Given the description of an element on the screen output the (x, y) to click on. 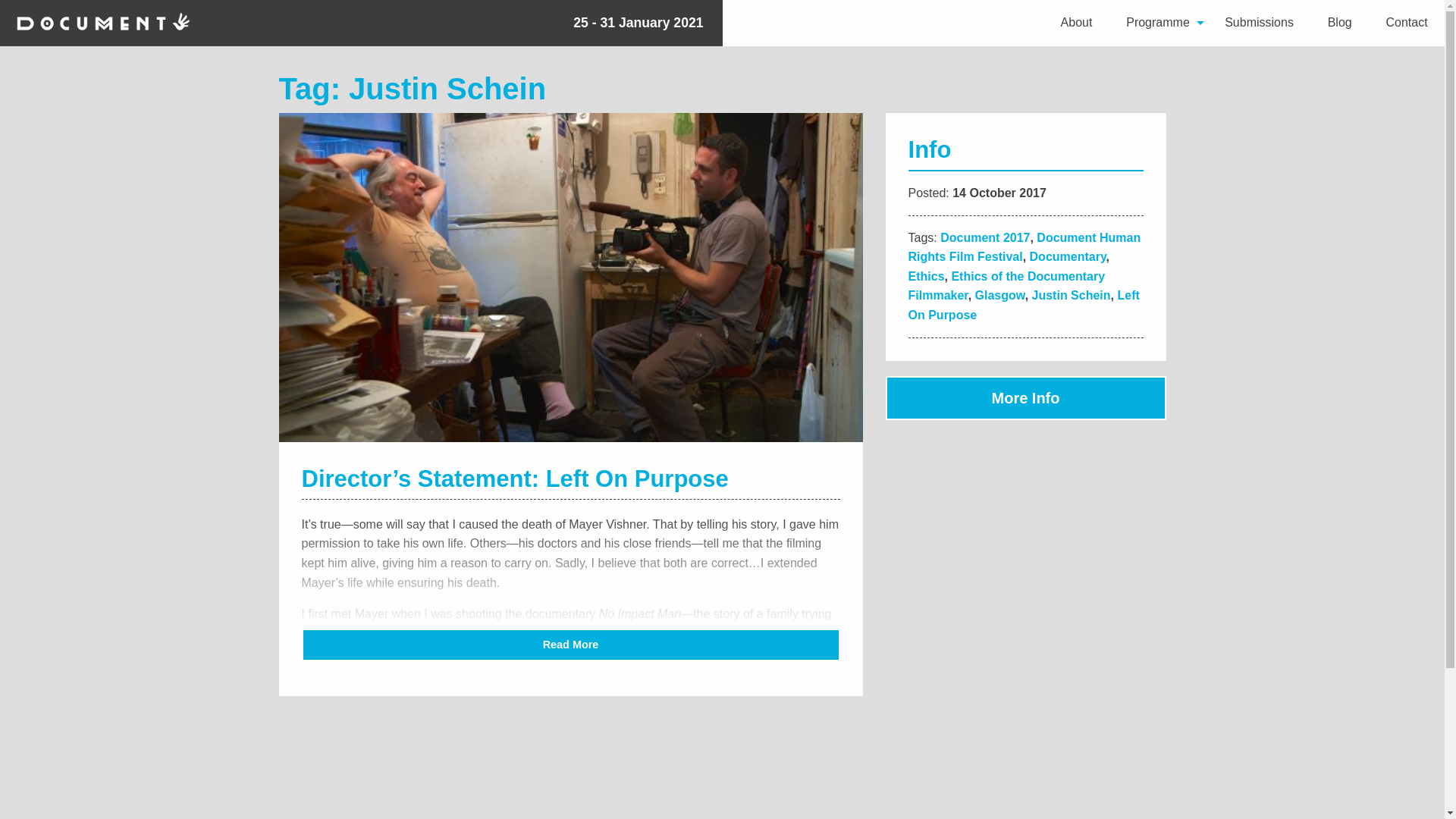
About (1076, 22)
Blog (1339, 22)
Programme (1158, 22)
Submissions (1259, 22)
